Given the description of an element on the screen output the (x, y) to click on. 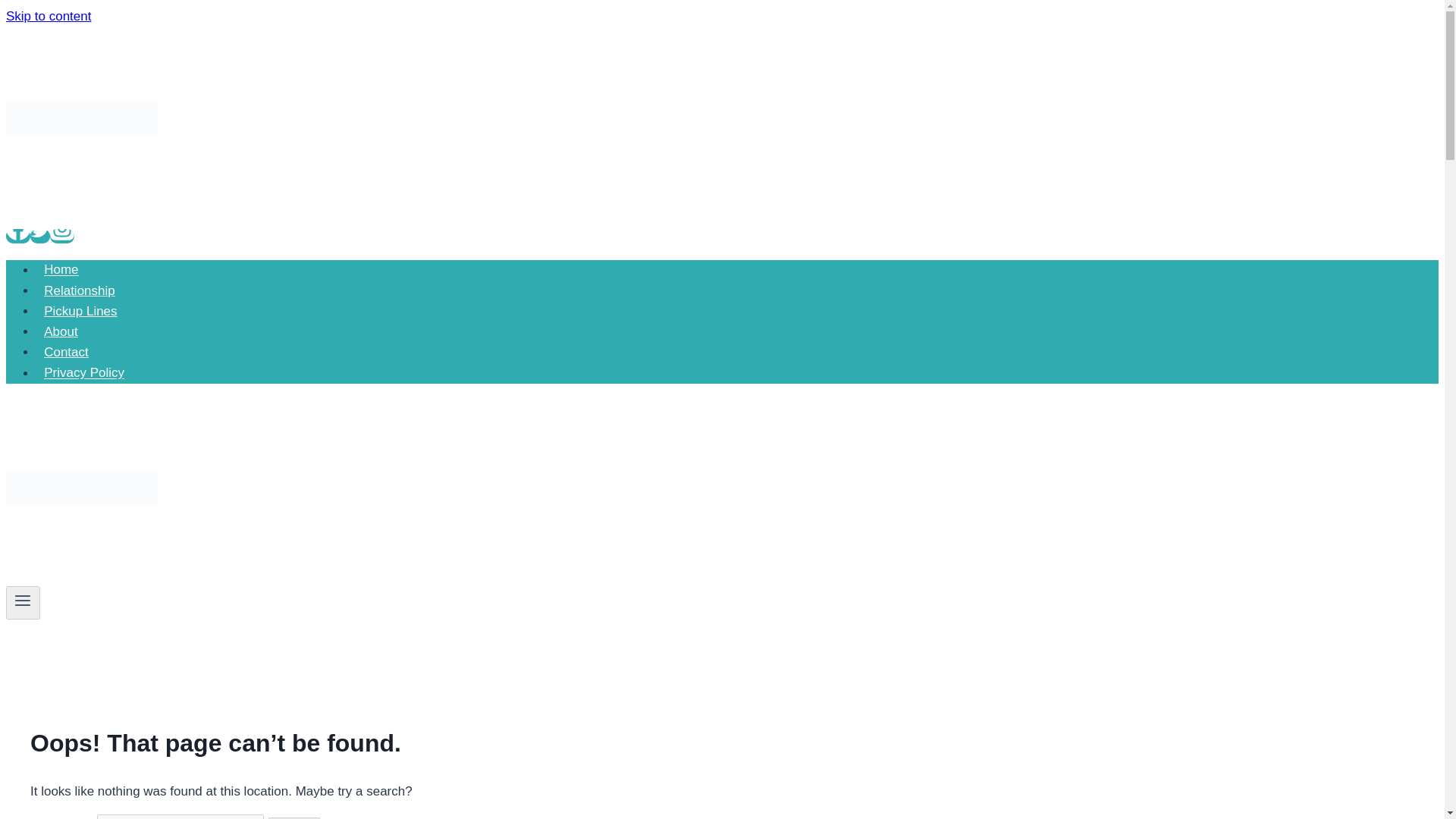
Facebook (17, 236)
Toggle Menu (22, 600)
Pickup Lines (80, 310)
Relationship (79, 290)
Twitter (39, 236)
Search (293, 818)
About (60, 331)
Home (60, 269)
Twitter (39, 229)
Facebook (17, 228)
Search (293, 818)
Skip to content (47, 16)
Instagram (61, 236)
Privacy Policy (84, 372)
Search (293, 818)
